Given the description of an element on the screen output the (x, y) to click on. 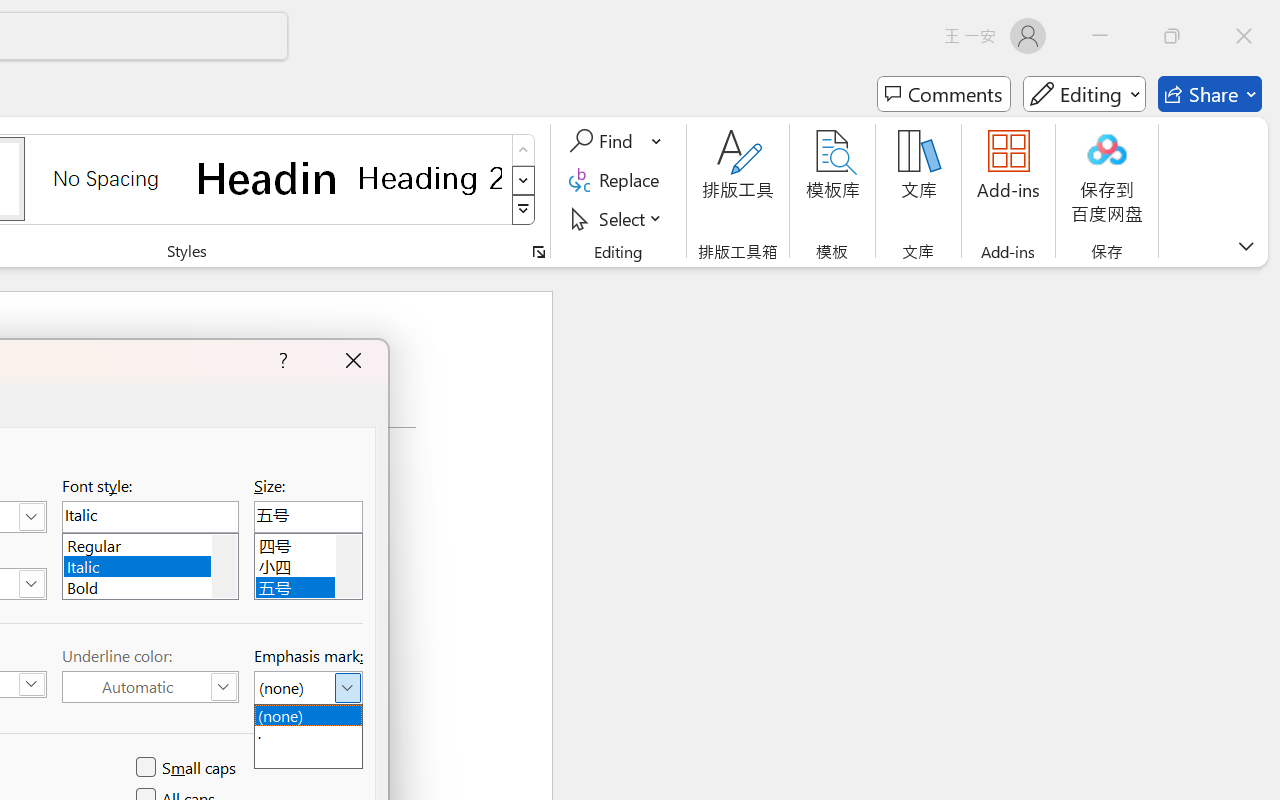
Size: (308, 516)
Font style: (150, 516)
Replace... (617, 179)
Row Down (523, 180)
Italic (150, 564)
